Given the description of an element on the screen output the (x, y) to click on. 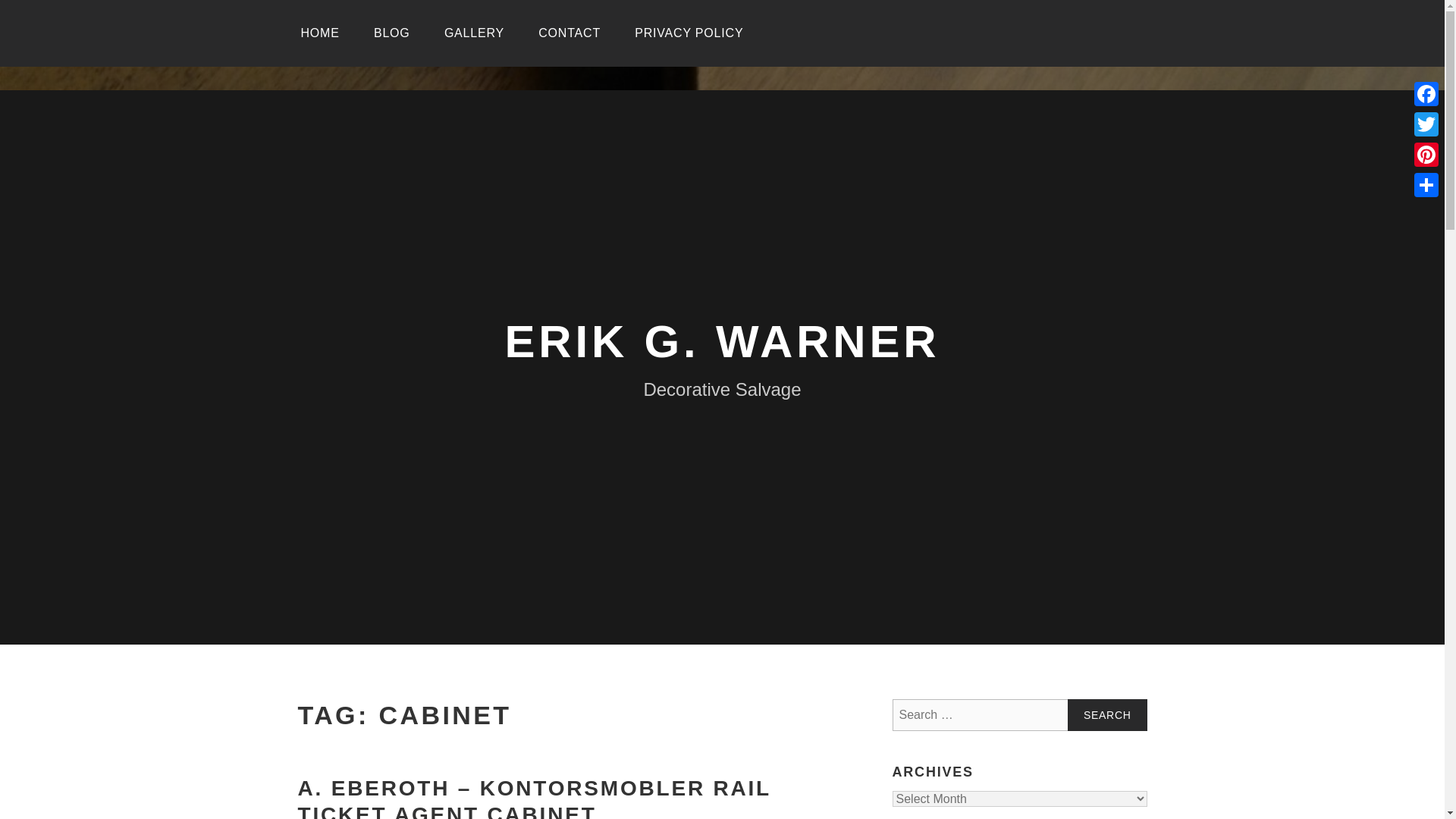
HOME (319, 33)
ERIK G. WARNER (722, 341)
Facebook (1425, 93)
BLOG (391, 33)
Twitter (1425, 123)
Search (1107, 715)
GALLERY (474, 33)
Pinterest (1425, 154)
CONTACT (568, 33)
Facebook (1425, 93)
Search (1107, 715)
Search (1107, 715)
Twitter (1425, 123)
PRIVACY POLICY (689, 33)
